Given the description of an element on the screen output the (x, y) to click on. 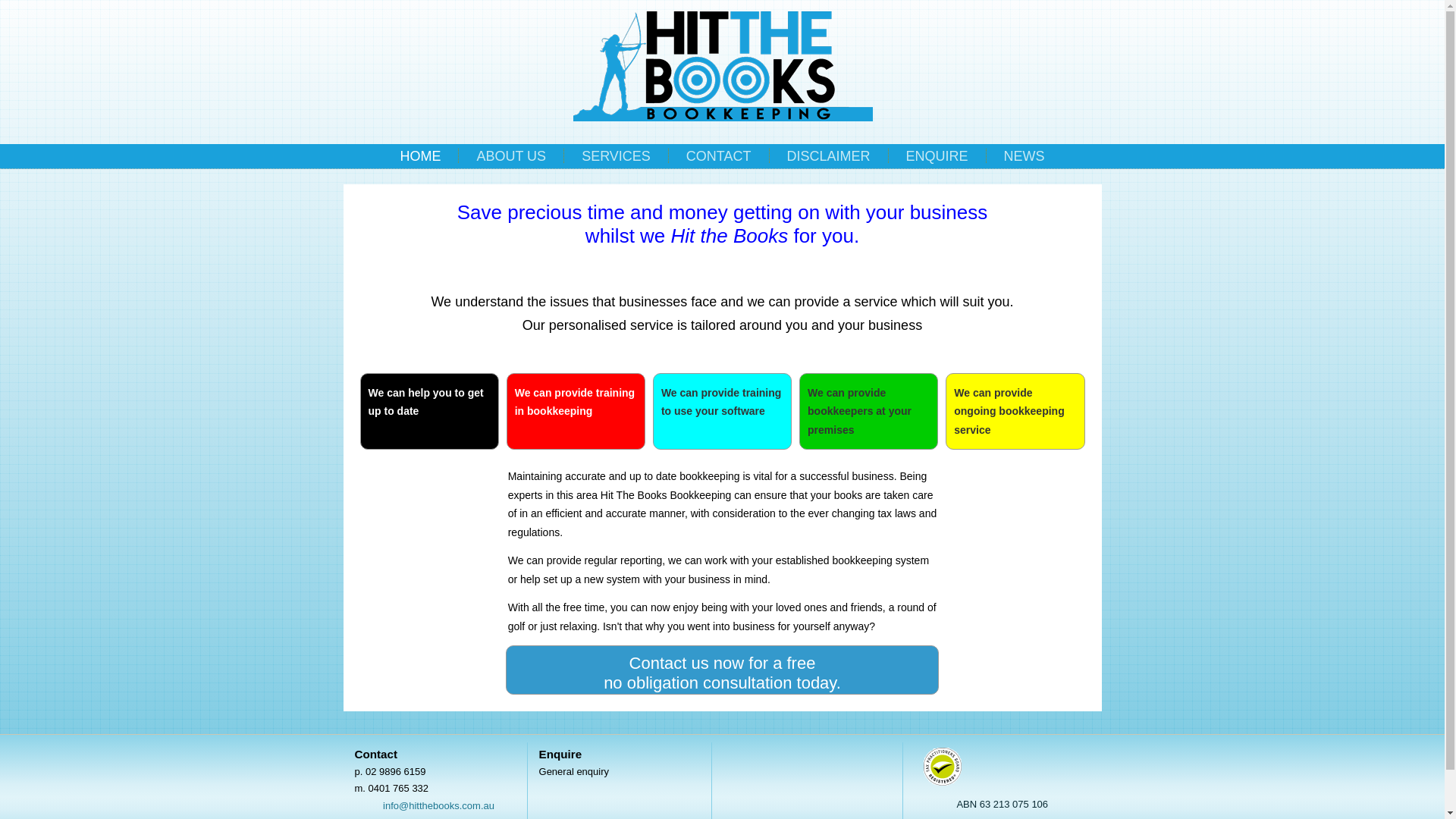
General enquiry Element type: text (574, 771)
no obligation consultation today. Element type: text (721, 682)
ENQUIRE Element type: text (937, 156)
Contact us now for a free Element type: text (722, 662)
NEWS Element type: text (1024, 156)
info@hitthebooks.com.au Element type: text (438, 805)
SERVICES Element type: text (615, 156)
DISCLAIMER Element type: text (828, 156)
HOME Element type: text (419, 156)
CONTACT Element type: text (718, 156)
ABOUT US Element type: text (510, 156)
